Given the description of an element on the screen output the (x, y) to click on. 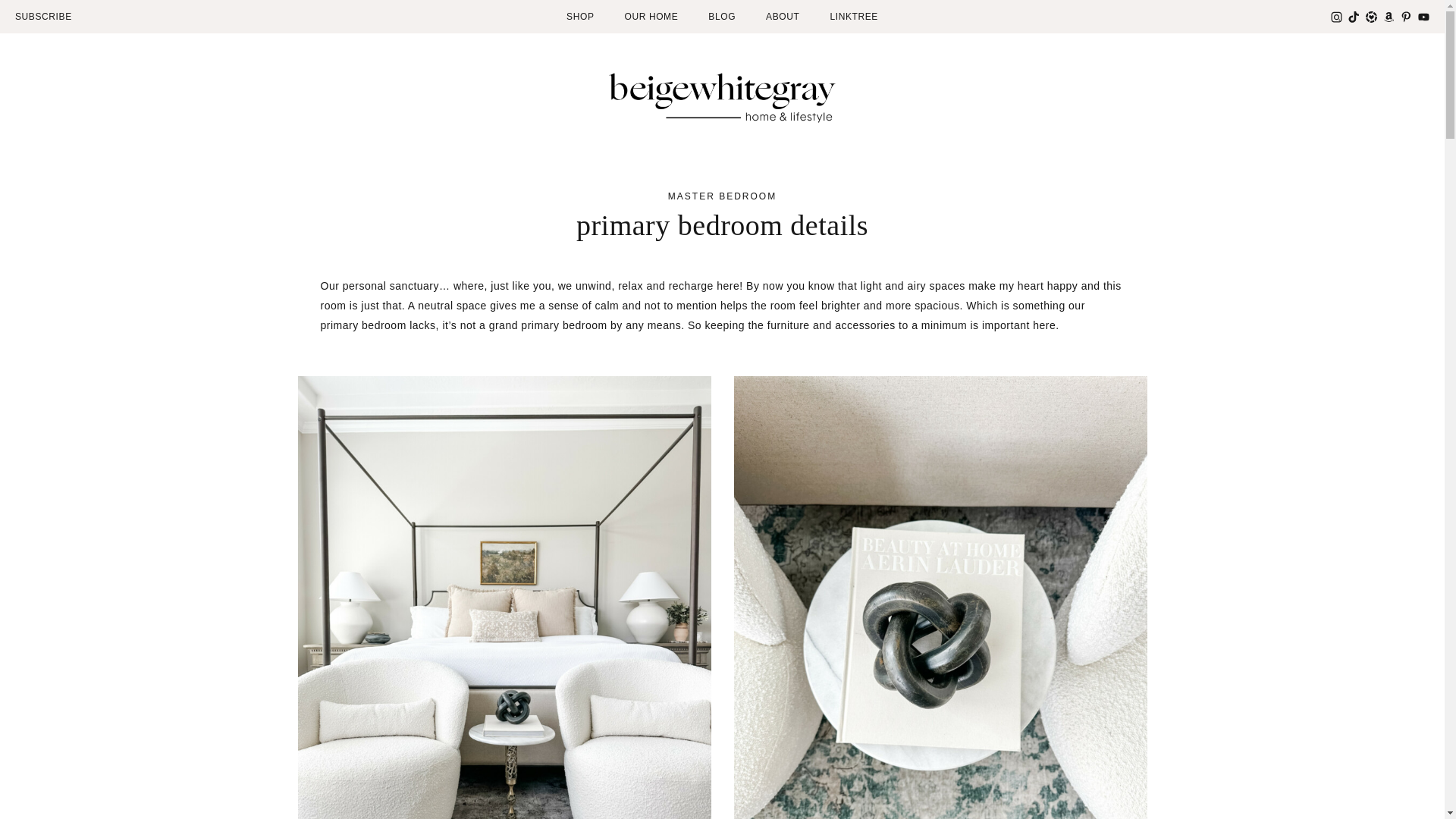
SHOP (580, 16)
LINKTREE (853, 16)
OUR HOME (651, 16)
SUBSCRIBE (42, 16)
ABOUT (782, 16)
BLOG (721, 16)
MASTER BEDROOM (722, 196)
